Given the description of an element on the screen output the (x, y) to click on. 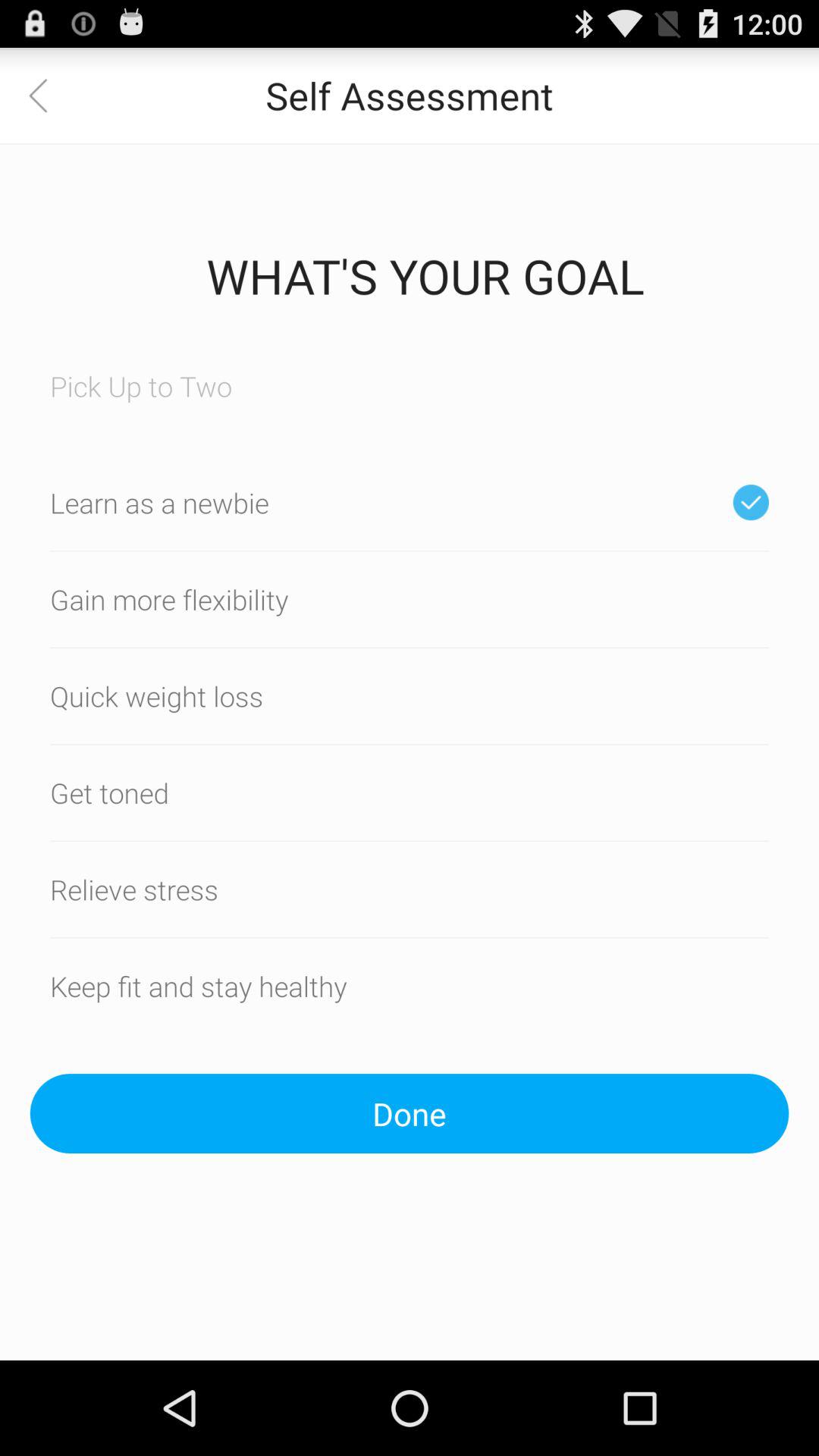
flip to the done button (409, 1113)
